Given the description of an element on the screen output the (x, y) to click on. 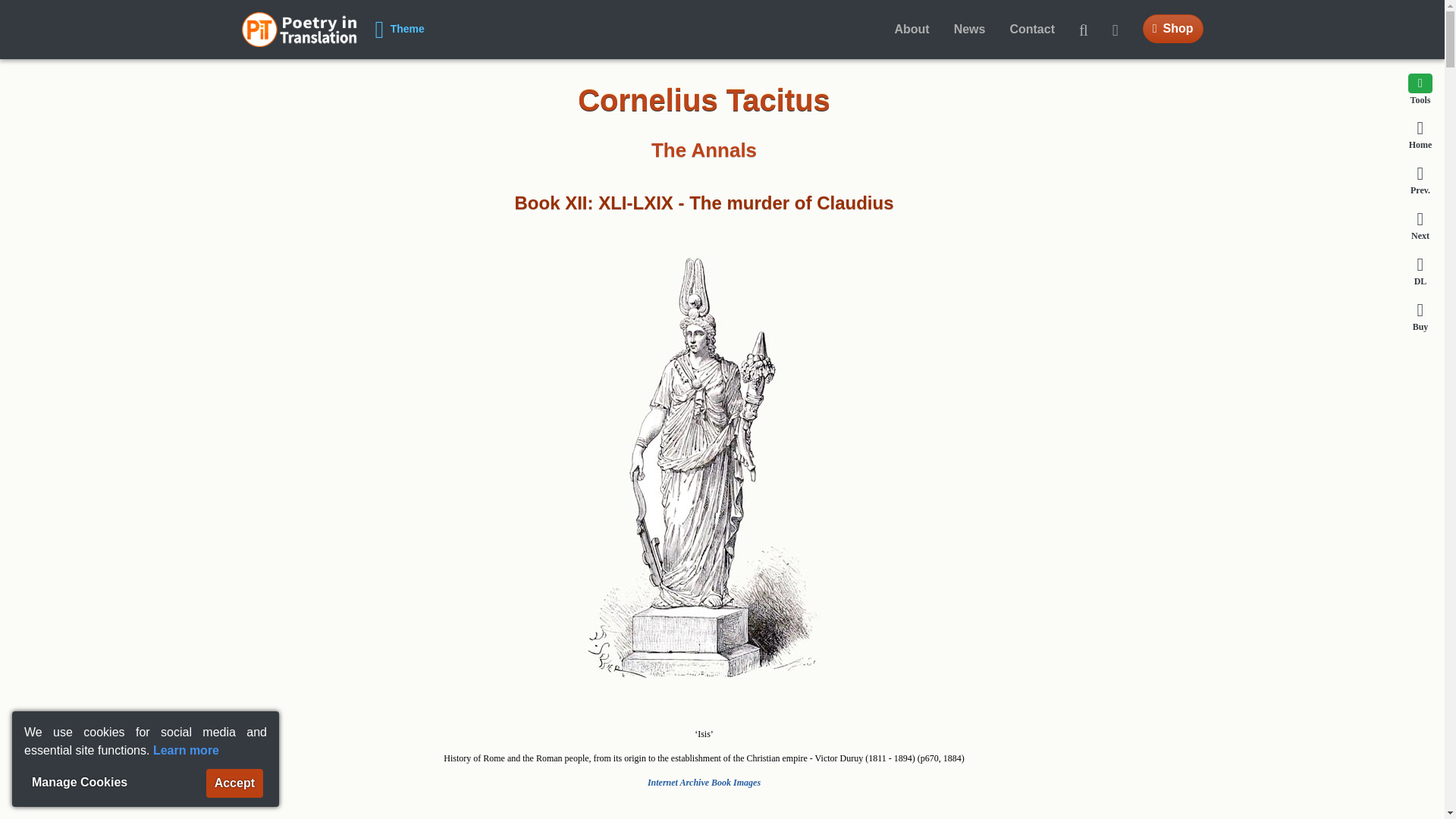
Shop (1173, 28)
Home (1420, 133)
Internet Archive Book Images (703, 782)
About (911, 29)
Buy Print Editions (1173, 28)
Buy (1420, 316)
News (969, 29)
Buy This Book (1420, 316)
Account Login (1121, 29)
Download (1420, 270)
